Given the description of an element on the screen output the (x, y) to click on. 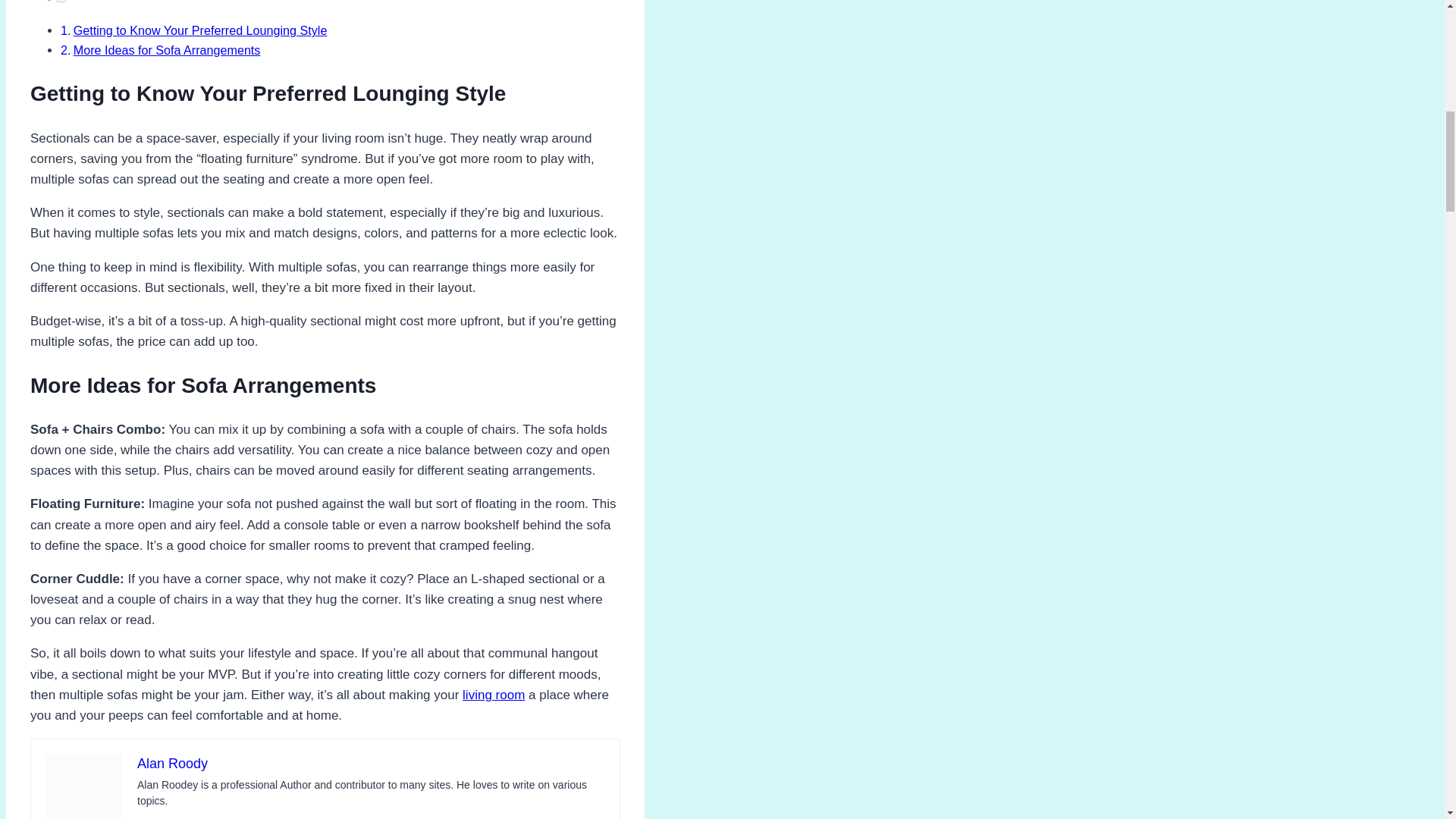
Getting to Know Your Preferred Lounging Style (200, 29)
living room (493, 694)
Alan Roody (172, 763)
Getting to Know Your Preferred Lounging Style (200, 29)
More Ideas for Sofa Arrangements (167, 49)
More Ideas for Sofa Arrangements (167, 49)
